Given the description of an element on the screen output the (x, y) to click on. 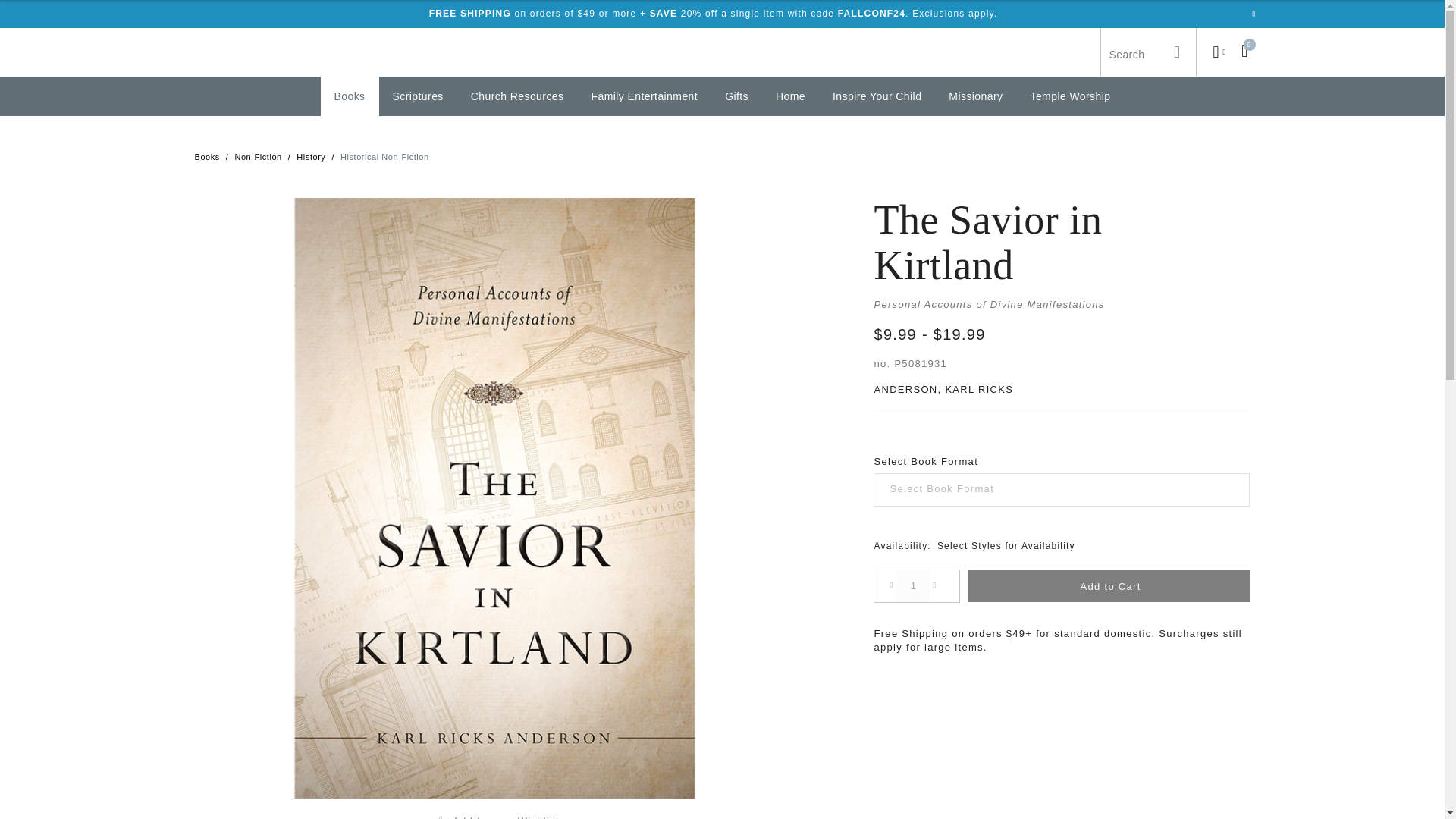
Deseret Book (722, 51)
1 (912, 585)
Add to your Wishlist (494, 814)
Books (349, 96)
